Given the description of an element on the screen output the (x, y) to click on. 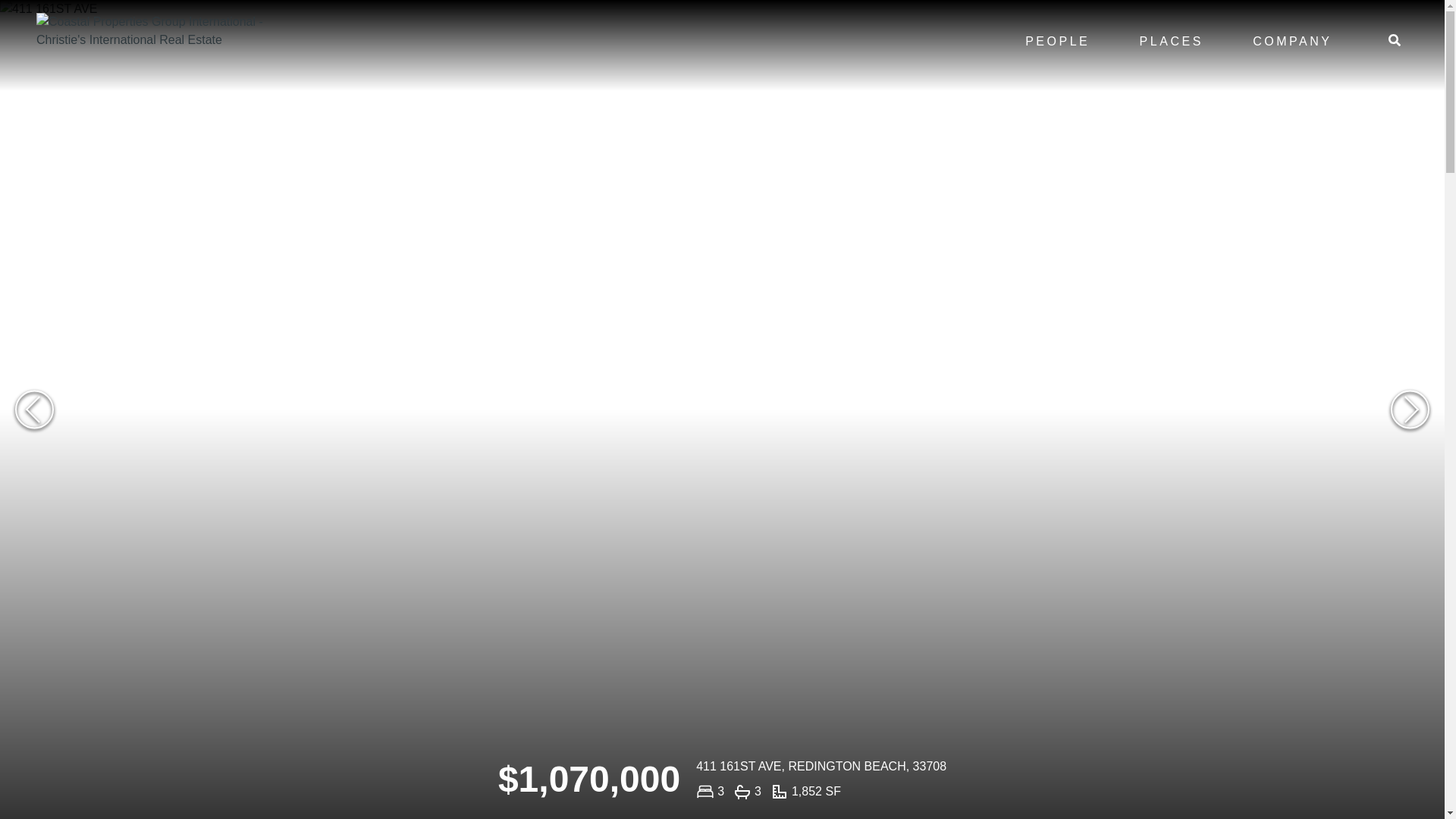
Search (1393, 39)
COMPANY (1292, 40)
PLACES (1171, 40)
PEOPLE (1057, 40)
Homepage (167, 45)
